Given the description of an element on the screen output the (x, y) to click on. 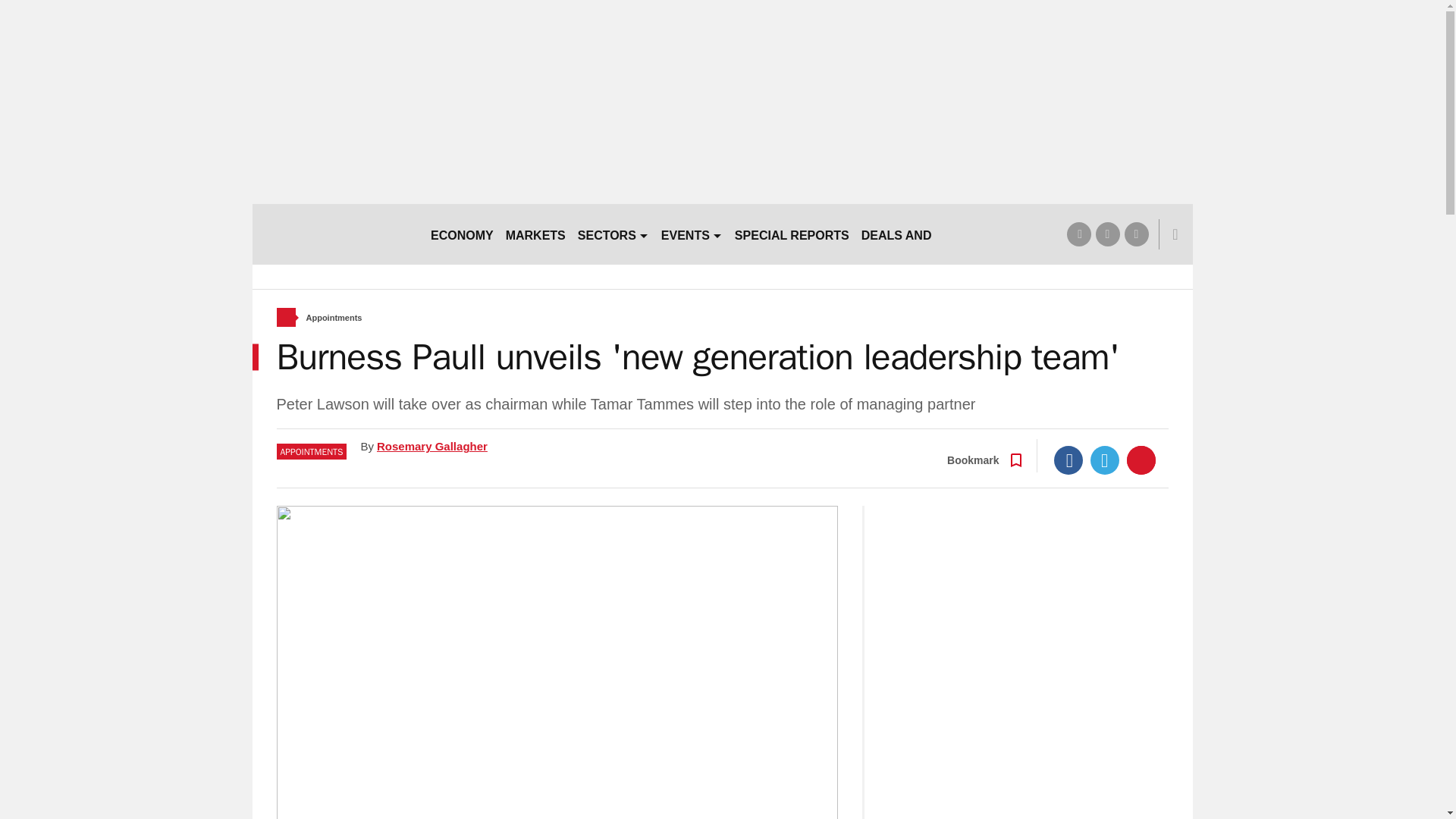
EVENTS (692, 233)
facebook (1077, 233)
twitter (1106, 233)
linkedin (1136, 233)
SECTORS (613, 233)
DEALS AND DEALMAKERS (941, 233)
MARKETS (535, 233)
businessInsider (333, 233)
ECONOMY (462, 233)
SPECIAL REPORTS (792, 233)
